Given the description of an element on the screen output the (x, y) to click on. 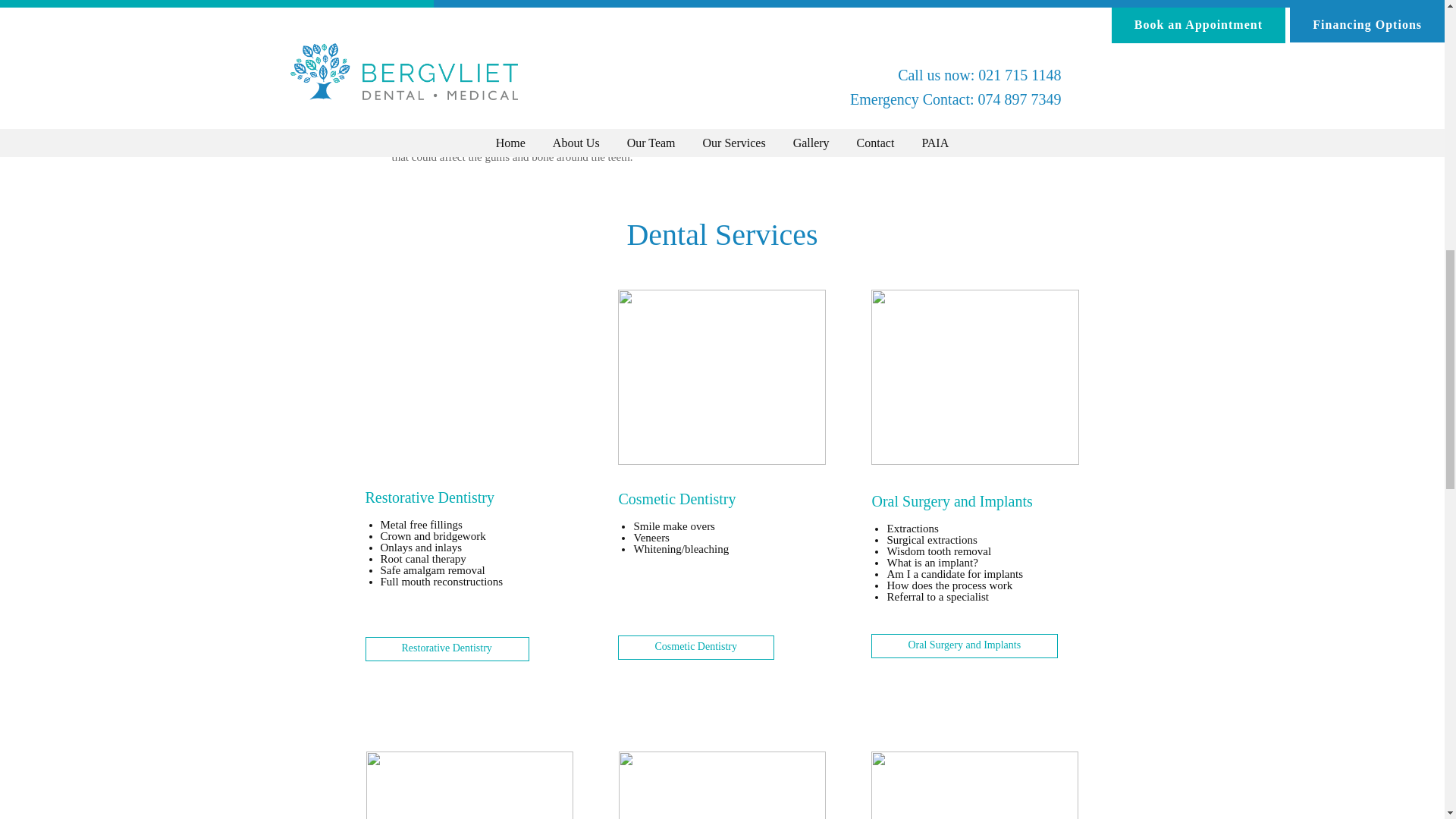
Oral Surgery and Implants (964, 645)
Restorative Dentistry (447, 648)
Cosmetic Dentistry (695, 647)
